Given the description of an element on the screen output the (x, y) to click on. 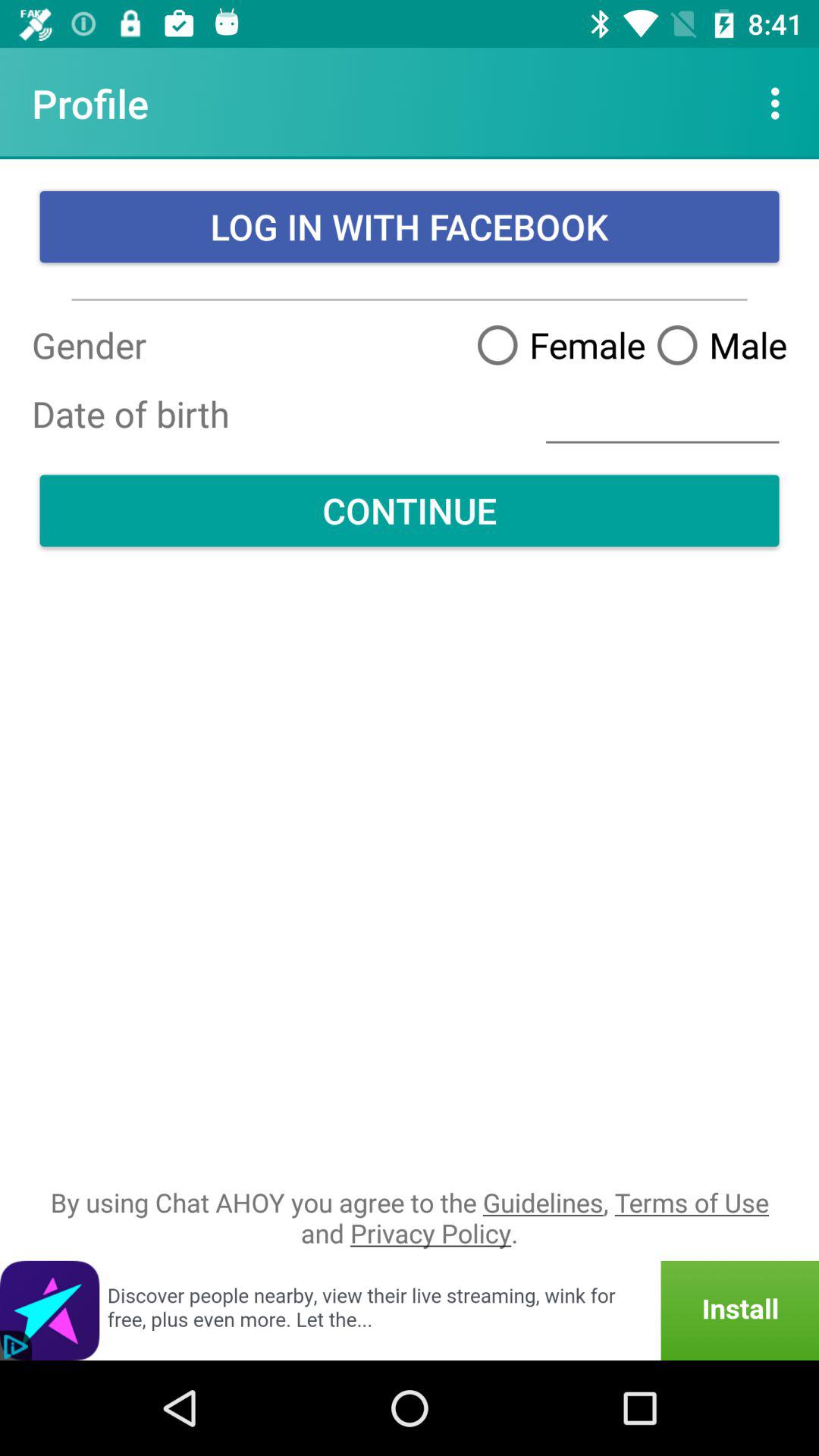
swipe until log in with item (409, 226)
